Given the description of an element on the screen output the (x, y) to click on. 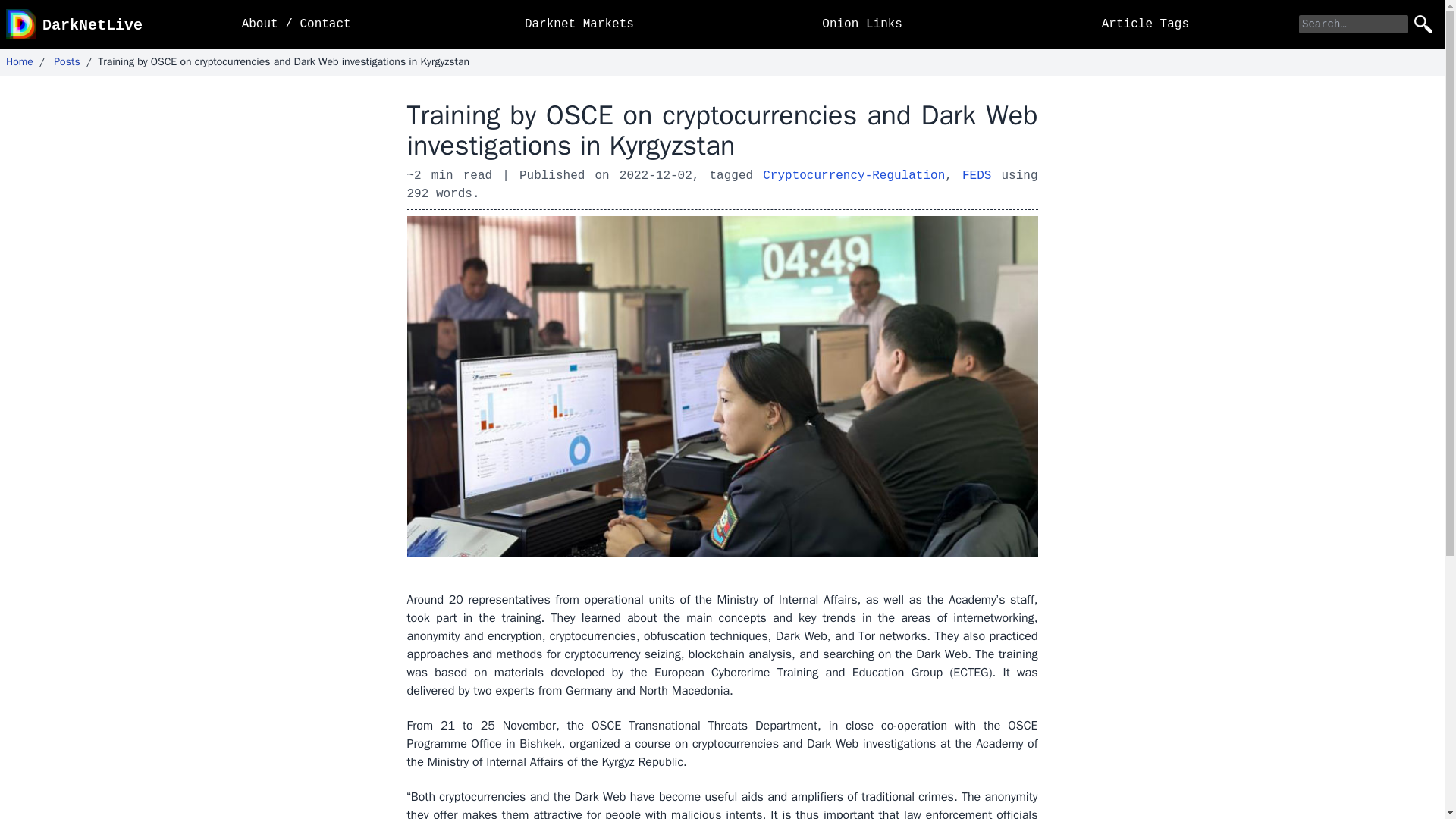
Article Tags (1145, 24)
Home (19, 61)
Posts (66, 61)
Onion Links (862, 24)
FEDS (976, 176)
DarkNetLive (74, 24)
Darknet Markets (579, 24)
Cryptocurrency-Regulation (853, 176)
